Given the description of an element on the screen output the (x, y) to click on. 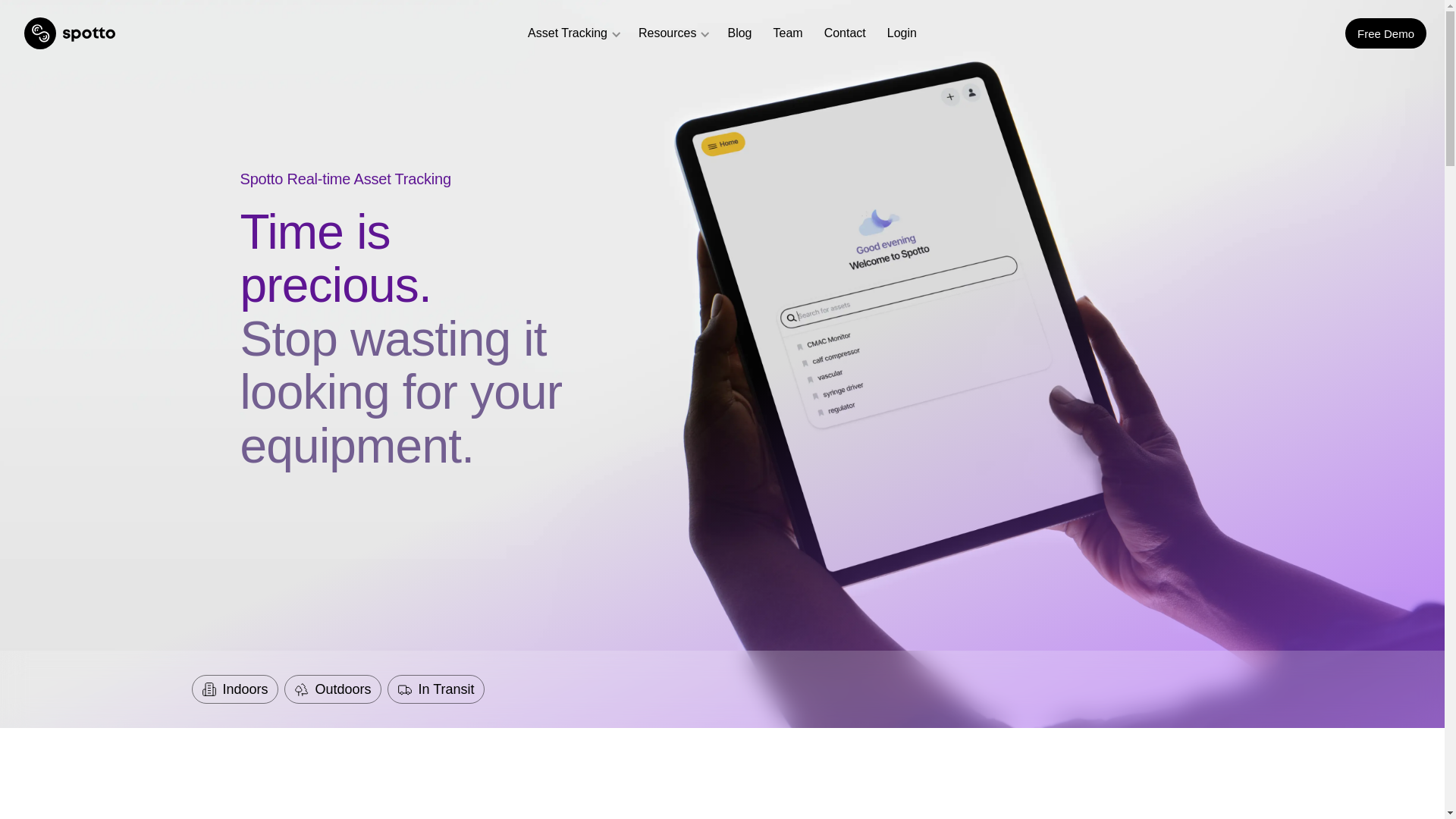
Team (787, 33)
Contact (844, 33)
Free Demo (1385, 33)
Login (901, 33)
Blog (738, 33)
